Given the description of an element on the screen output the (x, y) to click on. 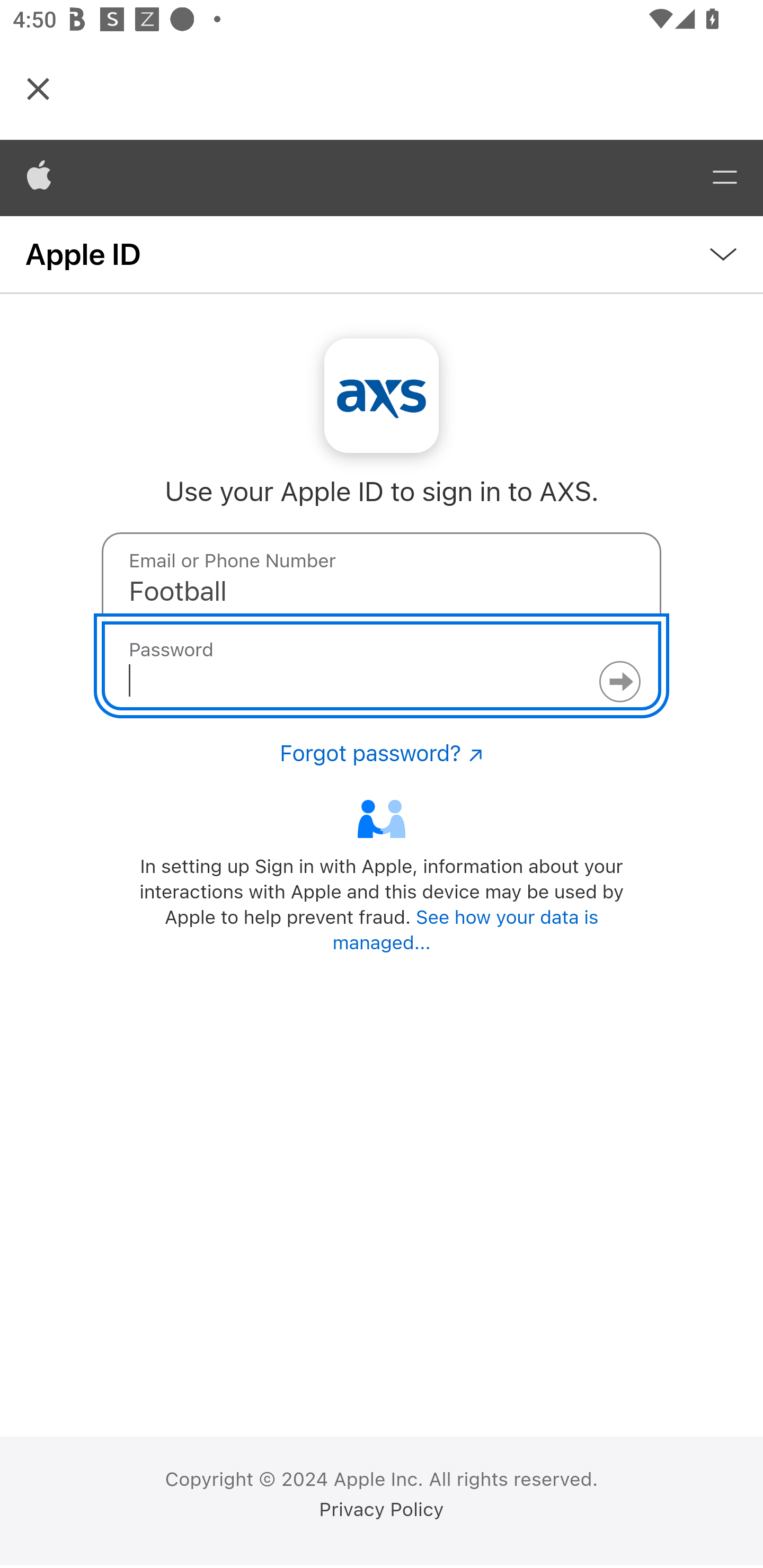
Close (38, 88)
Apple (38, 177)
Menu (724, 177)
Football (381, 576)
Sign In (618, 681)
Privacy Policy (381, 1509)
